Given the description of an element on the screen output the (x, y) to click on. 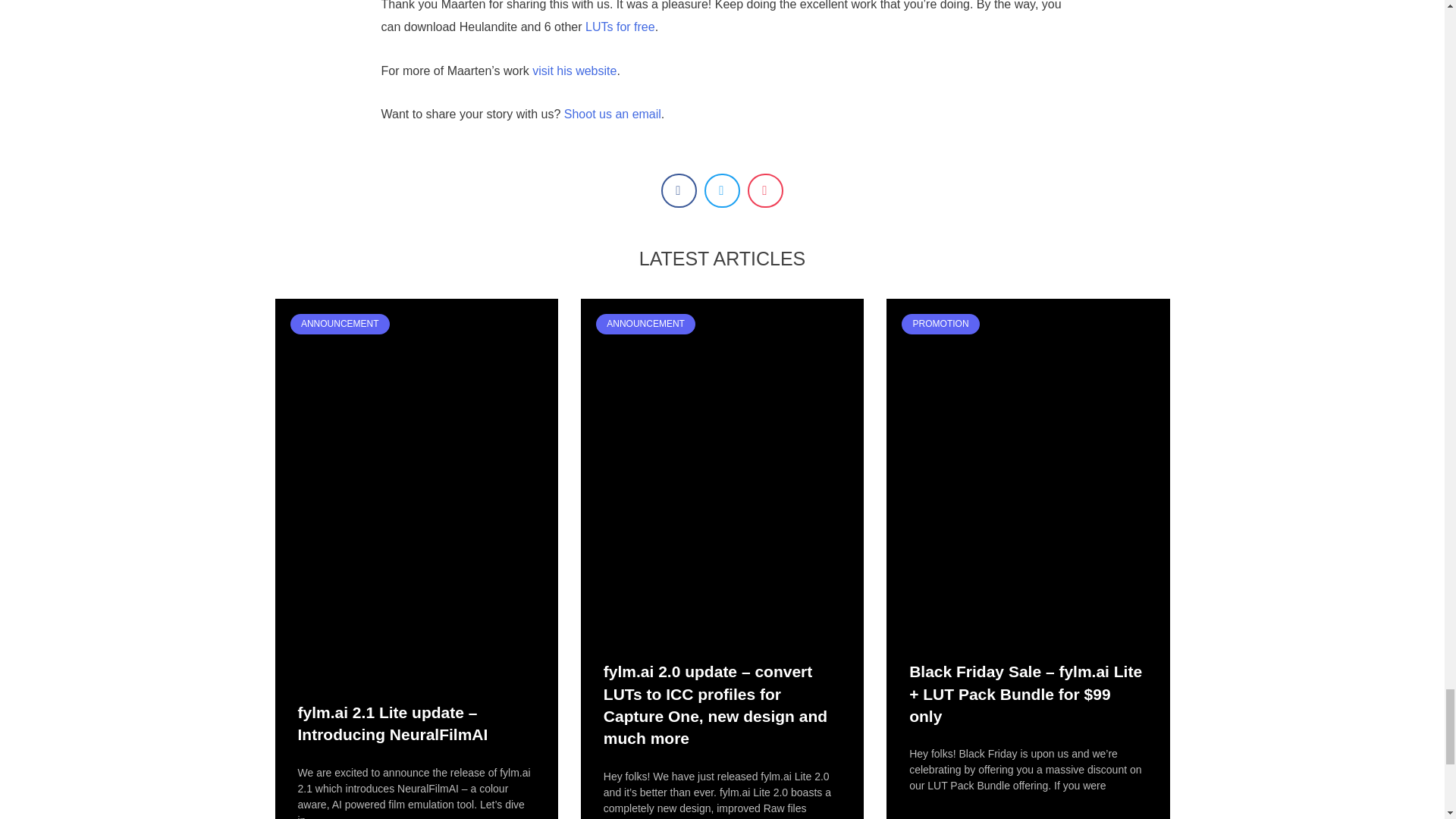
Shoot us an email (612, 113)
LUTs for free (620, 26)
visit his website (573, 70)
